Given the description of an element on the screen output the (x, y) to click on. 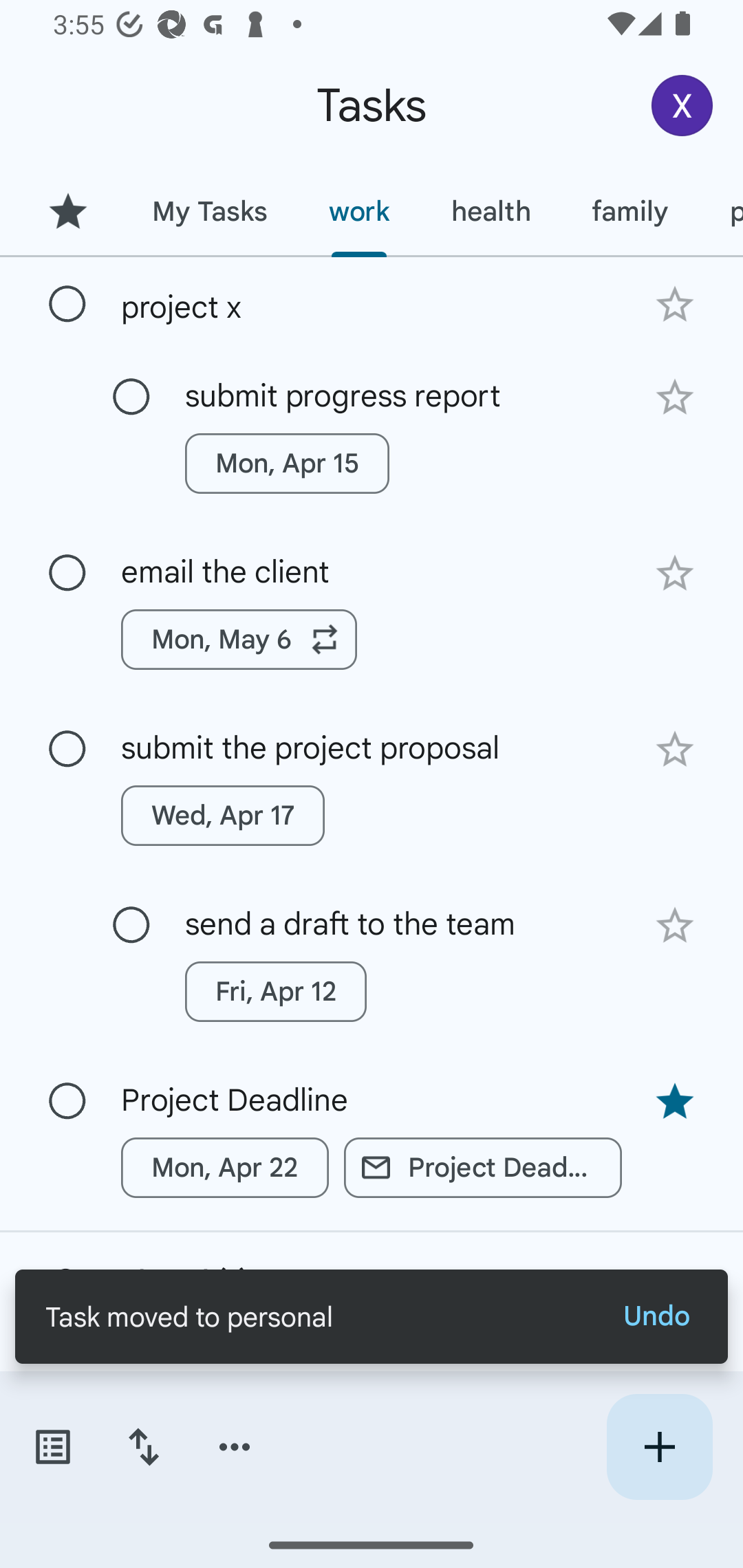
Starred (67, 211)
My Tasks (209, 211)
health (490, 211)
family (629, 211)
Add star (674, 303)
Mark as complete (67, 304)
Add star (674, 397)
Mark as complete (131, 397)
Mon, Apr 15 (287, 463)
Add star (674, 573)
Mark as complete (67, 572)
Mon, May 6 (239, 639)
Add star (674, 749)
Mark as complete (67, 750)
Wed, Apr 17 (222, 814)
Add star (674, 924)
Mark as complete (131, 925)
Fri, Apr 12 (276, 991)
Remove star (674, 1101)
Mark as complete (67, 1101)
Mon, Apr 22 (225, 1167)
Project Deadline Related link (482, 1167)
Undo (656, 1316)
Switch task lists (52, 1447)
Create new task (659, 1446)
Change sort order (143, 1446)
More options (234, 1446)
